Given the description of an element on the screen output the (x, y) to click on. 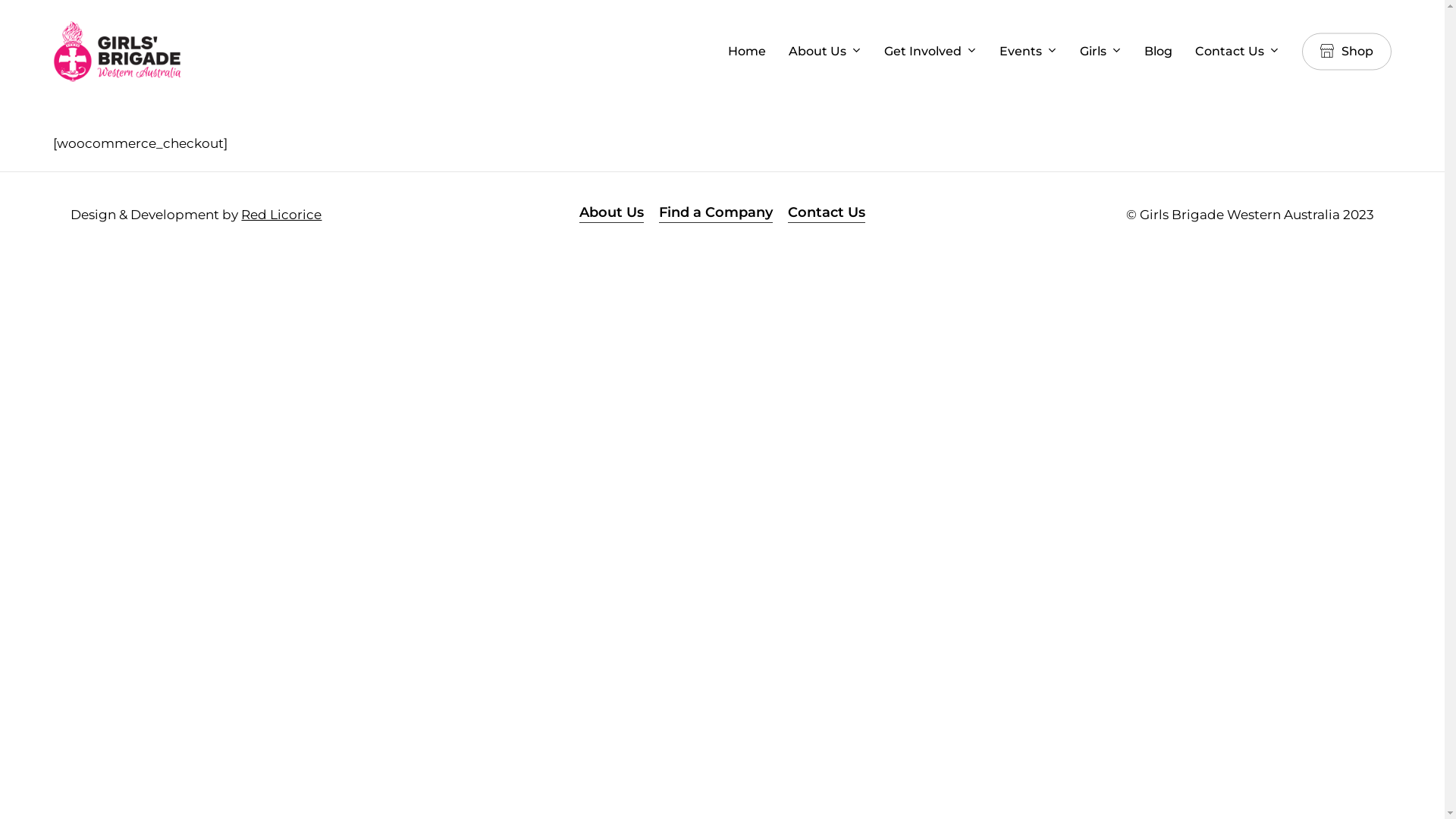
Girls Element type: text (1100, 51)
About Us Element type: text (611, 211)
Home Element type: text (746, 51)
Events Element type: text (1028, 51)
Contact Us Element type: text (826, 211)
Contact Us Element type: text (1237, 51)
Get Involved Element type: text (930, 51)
Blog Element type: text (1158, 51)
Red Licorice Element type: text (281, 214)
Shop Element type: text (1346, 51)
About Us Element type: text (824, 51)
Find a Company Element type: text (715, 211)
